Given the description of an element on the screen output the (x, y) to click on. 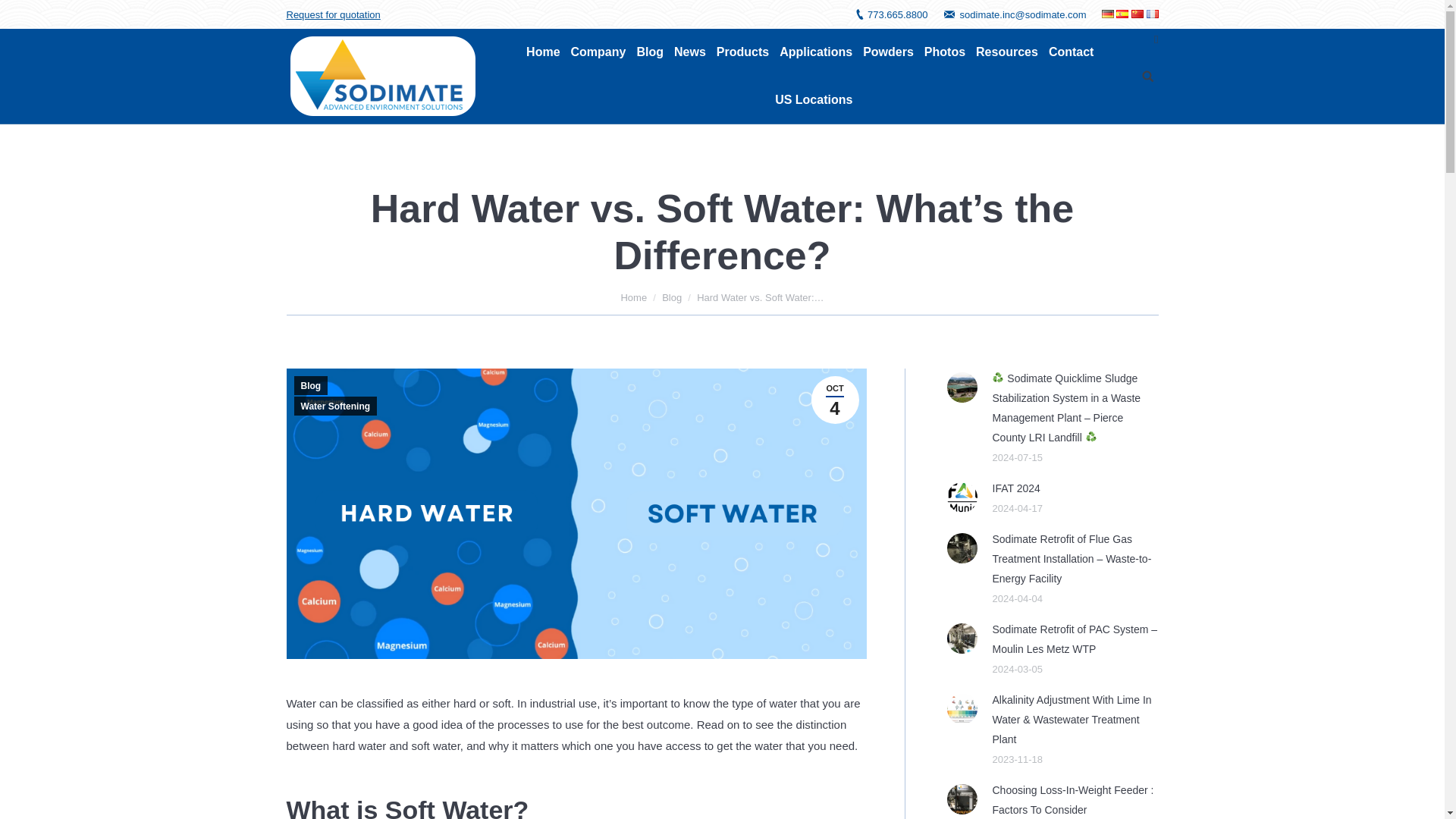
Applications (815, 52)
Blog (649, 52)
Products (742, 52)
News (689, 52)
7 h 56 min (834, 399)
Request for quotation (333, 14)
773.665.8800 (897, 14)
Company (598, 52)
Home (542, 52)
